Given the description of an element on the screen output the (x, y) to click on. 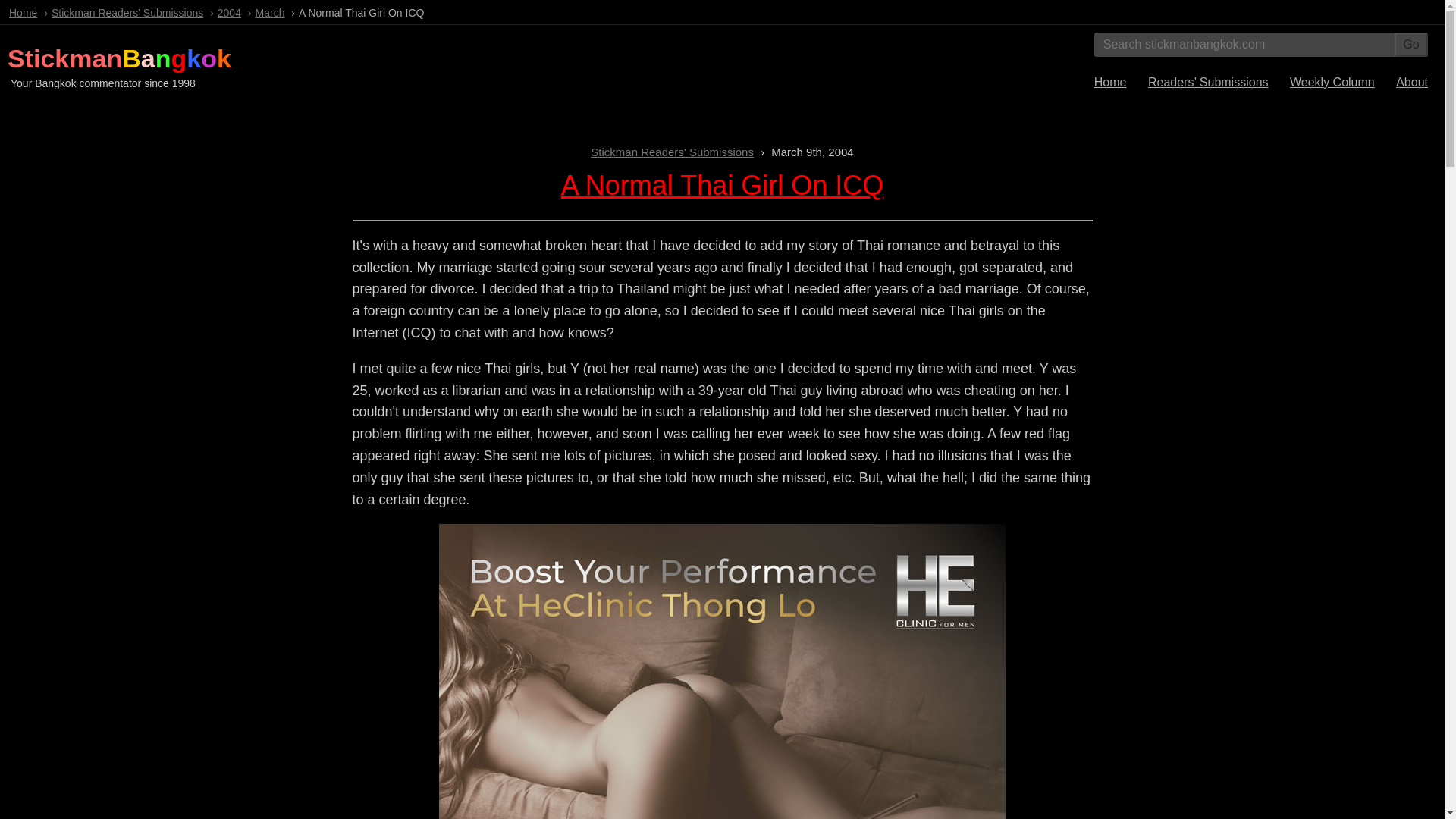
Home (22, 12)
Stickman Readers' Submissions (126, 12)
March (270, 12)
2004 (228, 12)
StickmanBangkok (119, 58)
Home (1109, 82)
About (1412, 82)
Weekly Column (1332, 82)
Stickman Readers' Submissions (672, 151)
Go (1411, 44)
